Given the description of an element on the screen output the (x, y) to click on. 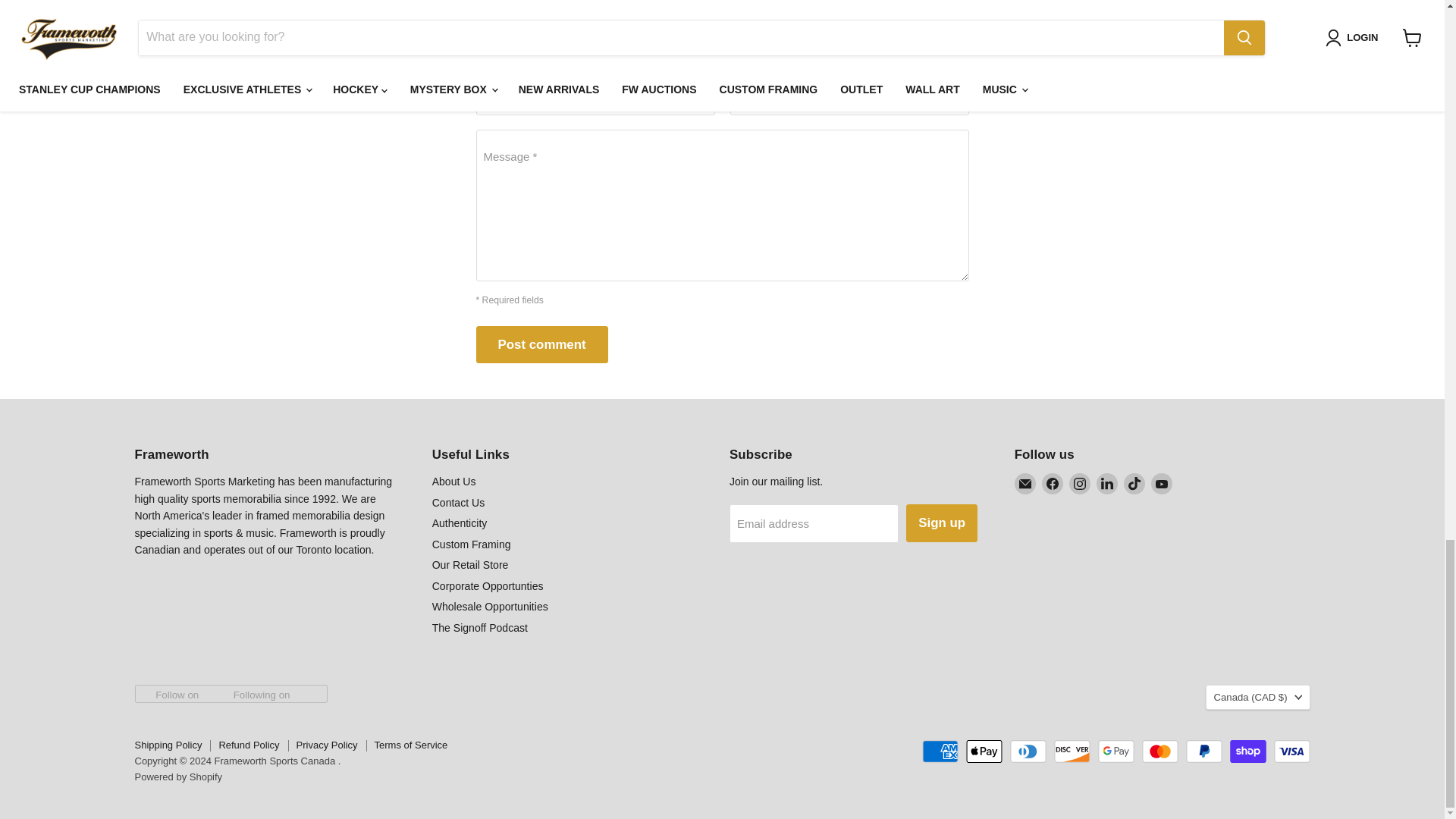
LinkedIn (1107, 483)
YouTube (1161, 483)
TikTok (1134, 483)
Instagram (1079, 483)
Email (1024, 483)
Facebook (1052, 483)
American Express (939, 751)
